Given the description of an element on the screen output the (x, y) to click on. 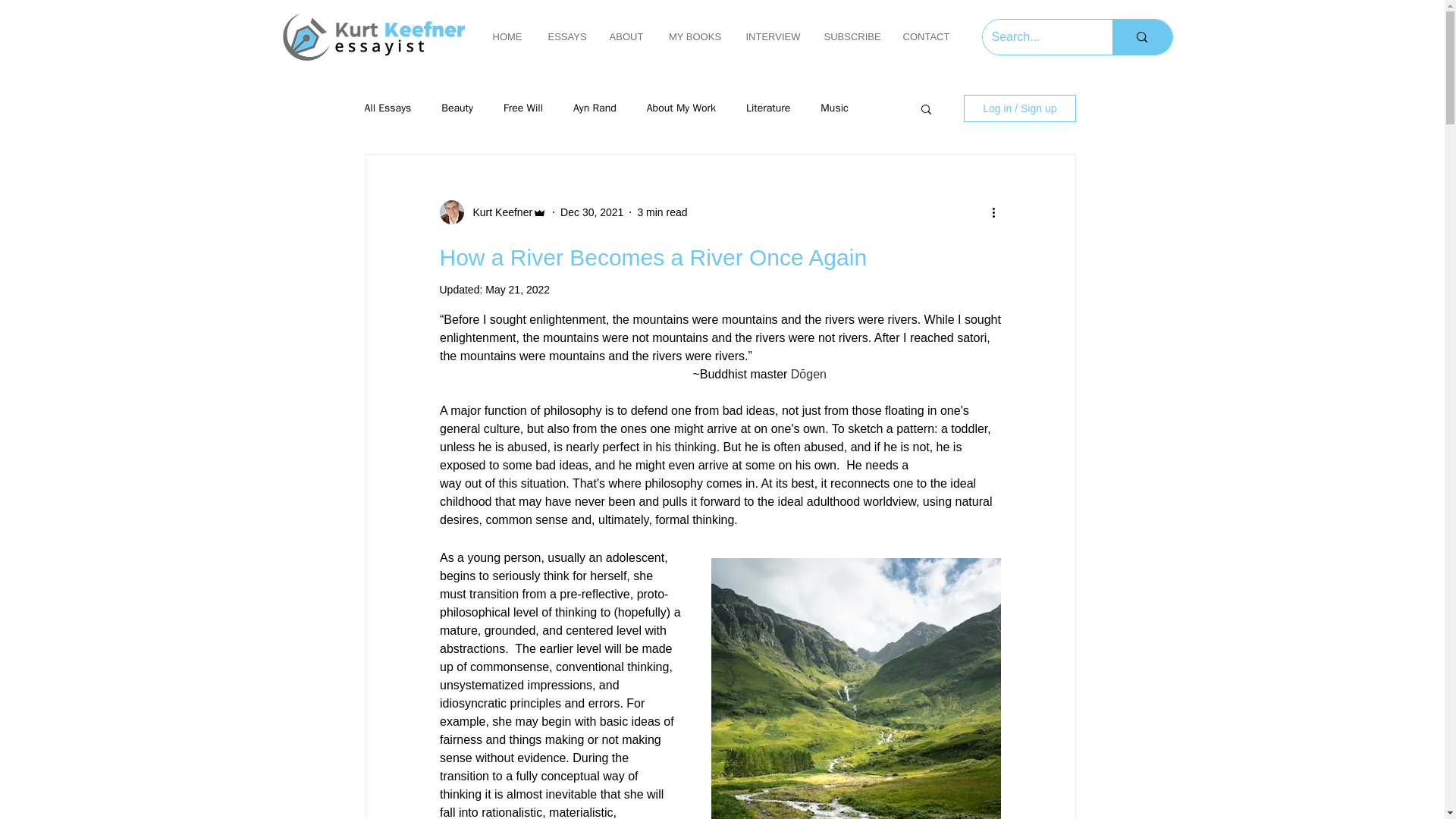
Kurt Keefner (498, 212)
Music (834, 108)
MY BOOKS (694, 37)
CONTACT (924, 37)
Literature (767, 108)
Beauty (457, 108)
Free Will (523, 108)
HOME (506, 37)
Dec 30, 2021 (591, 212)
All Essays (387, 108)
